Given the description of an element on the screen output the (x, y) to click on. 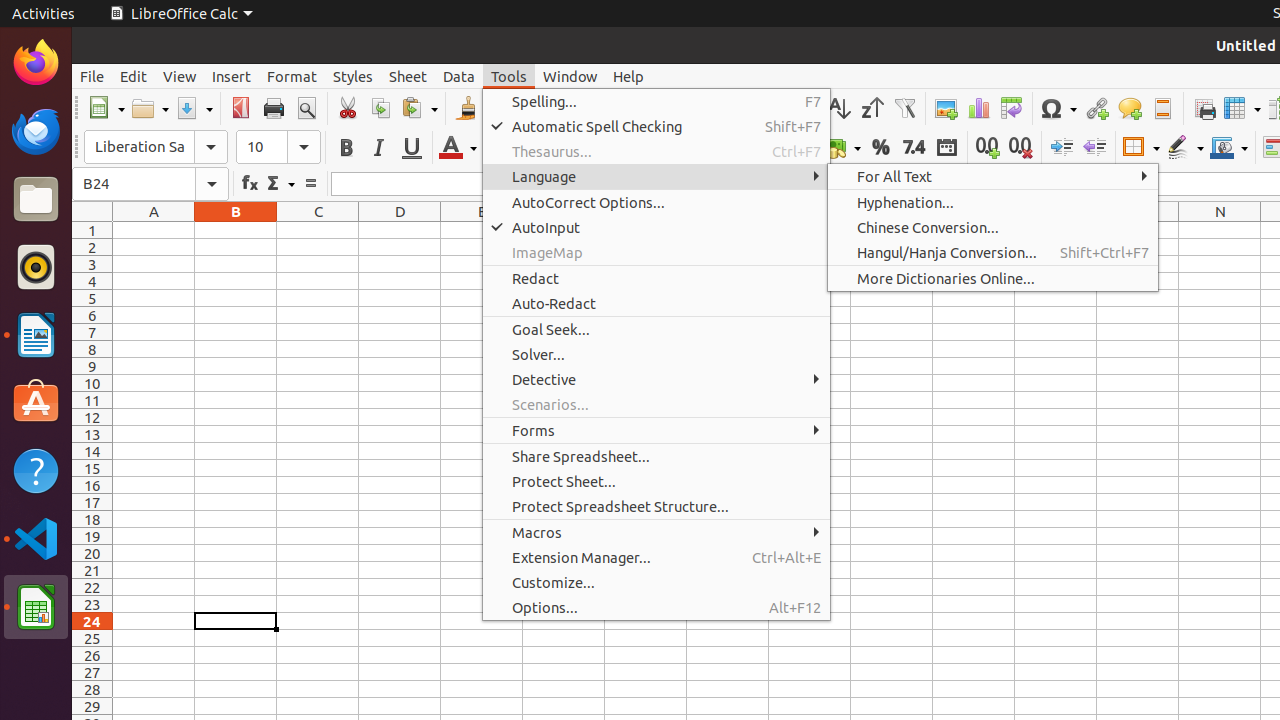
Select Function Element type: push-button (280, 183)
Font Name Element type: combo-box (156, 147)
Image Element type: push-button (945, 108)
E1 Element type: table-cell (482, 230)
